Given the description of an element on the screen output the (x, y) to click on. 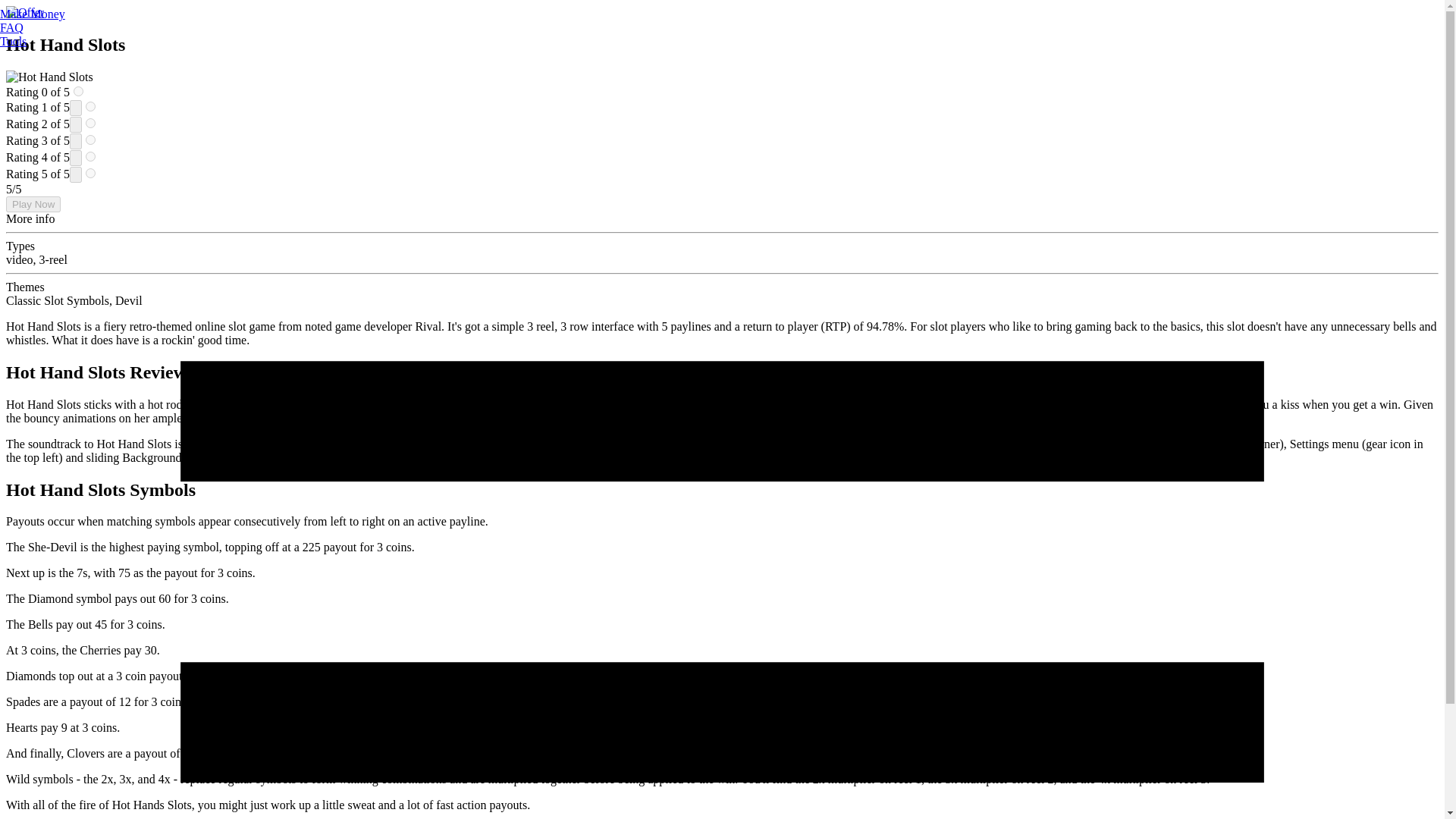
5 (90, 173)
1 (90, 106)
3 (90, 139)
0 (78, 91)
4 (90, 156)
Play Now (33, 204)
2 (90, 122)
